Given the description of an element on the screen output the (x, y) to click on. 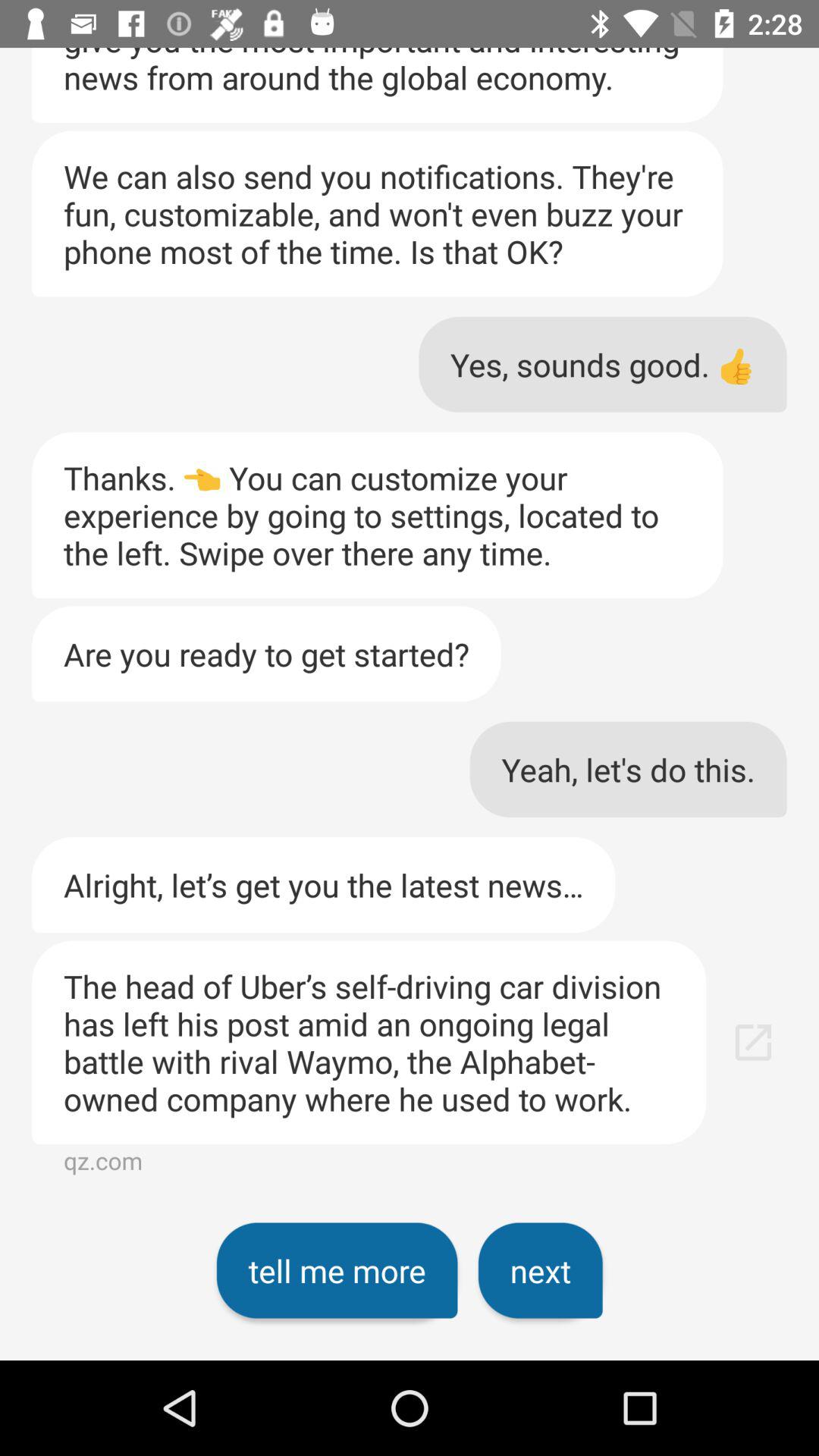
scroll until next item (540, 1270)
